Given the description of an element on the screen output the (x, y) to click on. 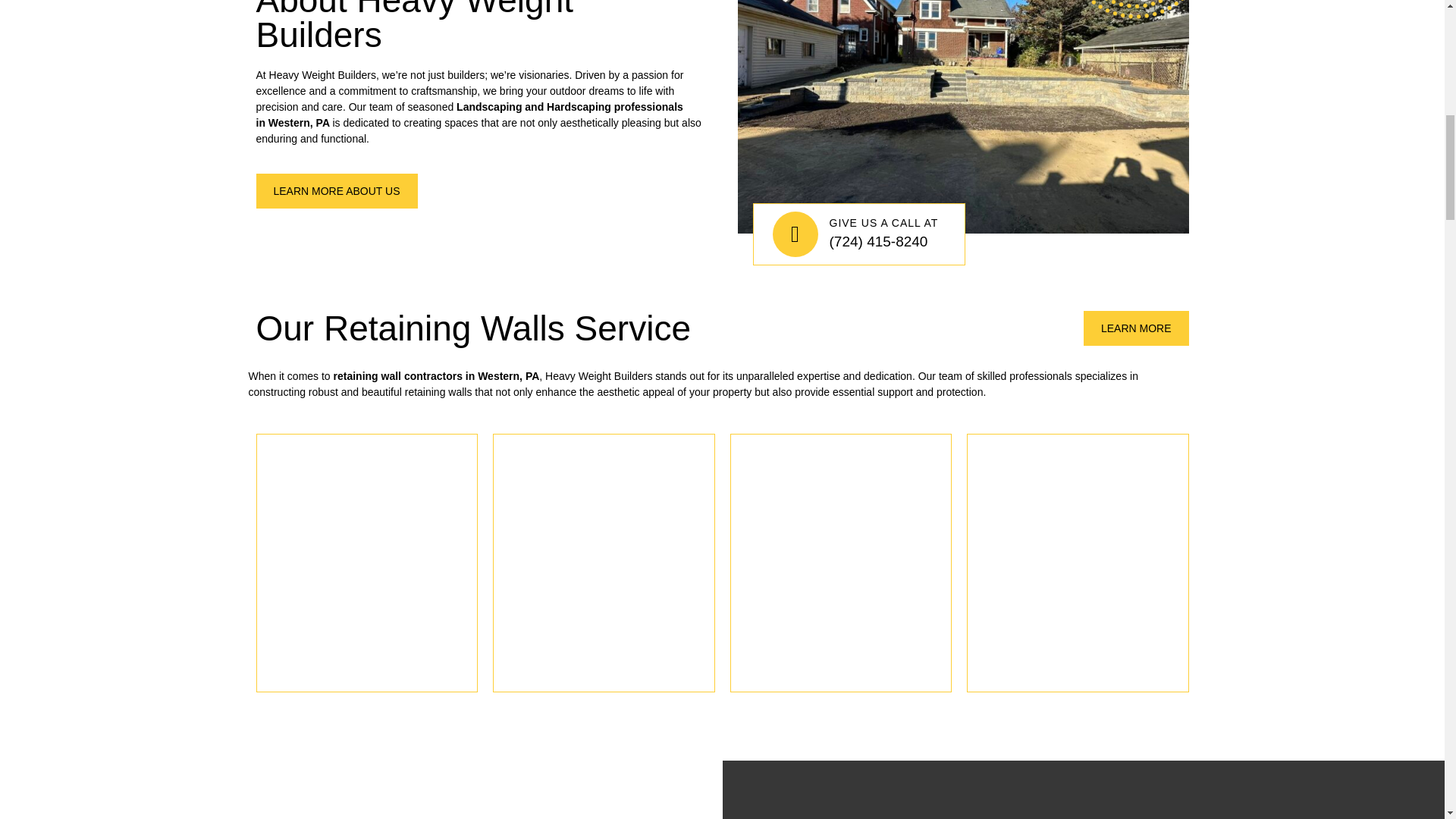
LEARN MORE (1136, 328)
GIVE US A CALL AT (884, 223)
LEARN MORE ABOUT US (336, 190)
